Given the description of an element on the screen output the (x, y) to click on. 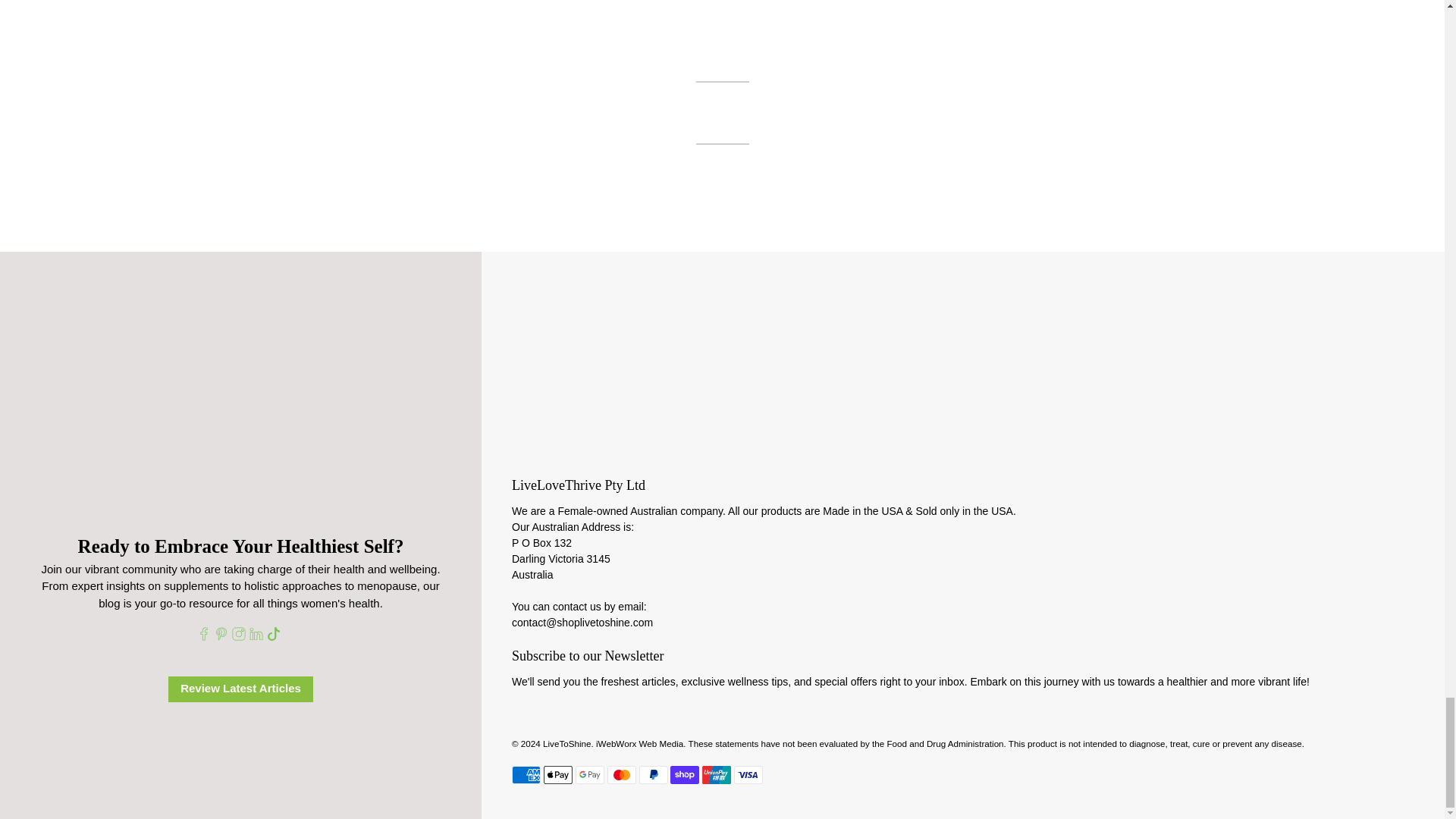
LiveToShine on Facebook (203, 635)
LiveToShine on Pinterest (221, 635)
LiveToShine (962, 351)
LiveToShine on Instagram (238, 635)
